Given the description of an element on the screen output the (x, y) to click on. 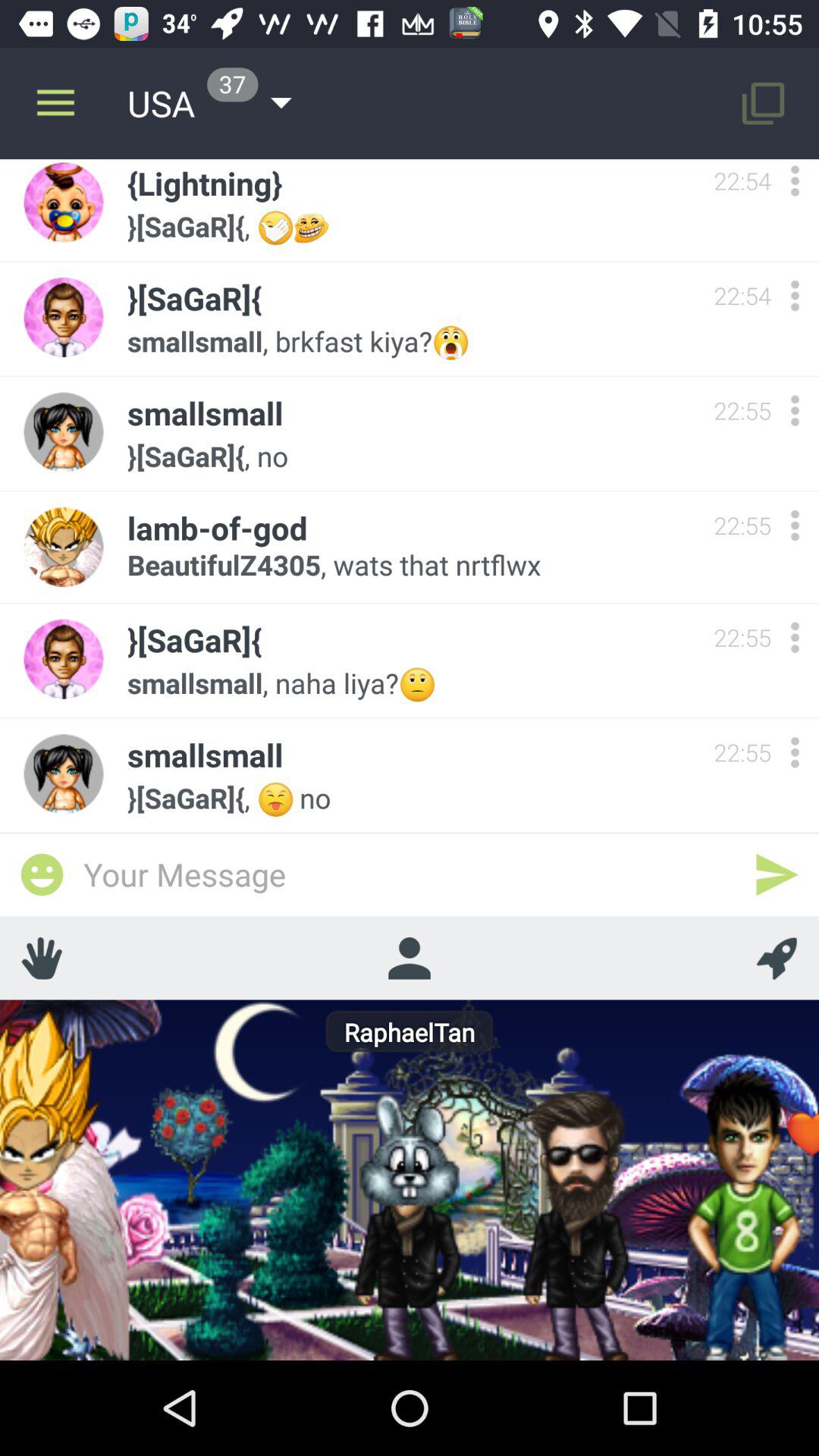
profile (409, 957)
